Given the description of an element on the screen output the (x, y) to click on. 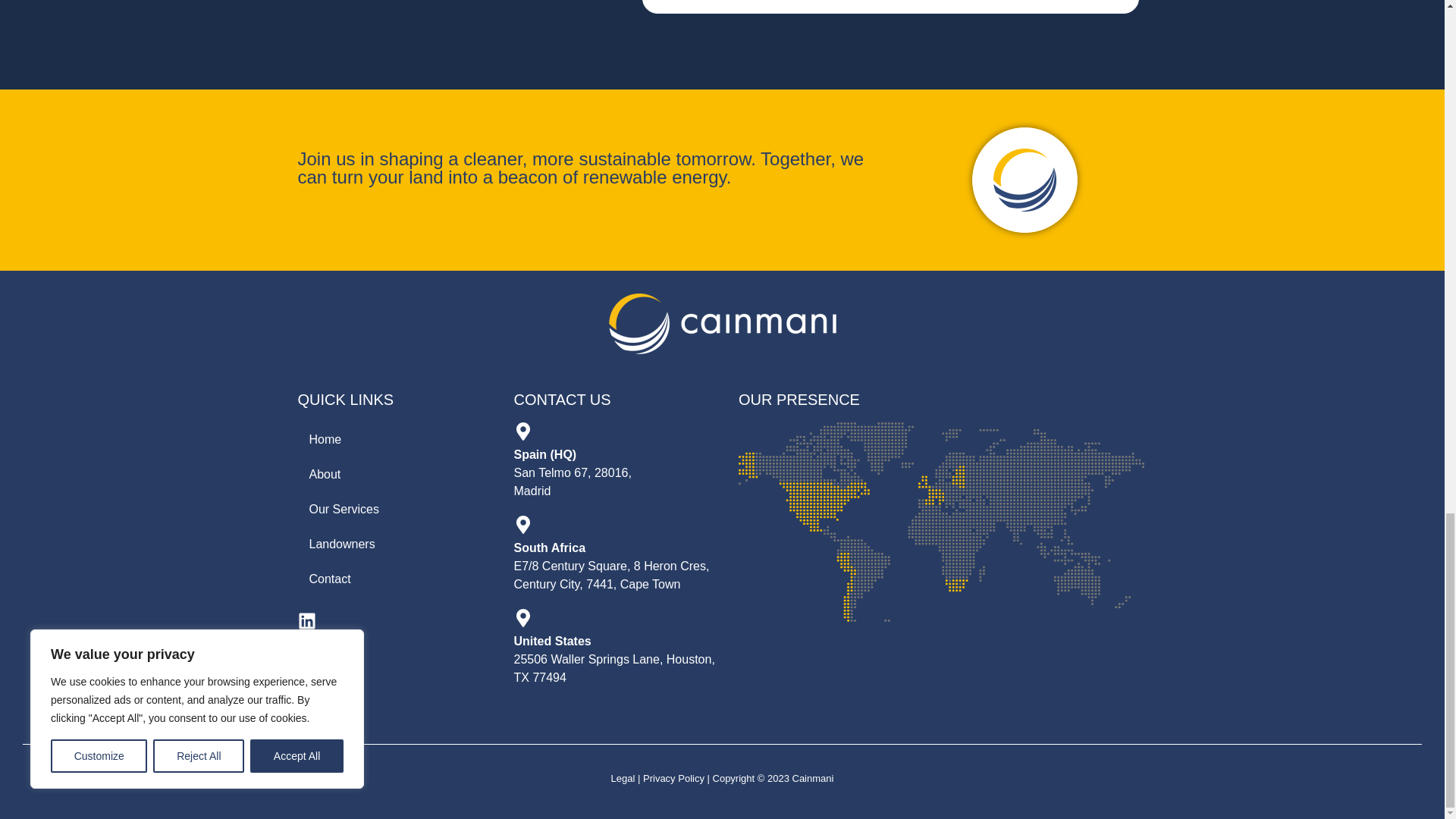
Our Services (397, 509)
Home (397, 439)
Legal (622, 778)
Landowners (397, 544)
Contact (397, 579)
Privacy Policy (673, 778)
About (397, 474)
